Given the description of an element on the screen output the (x, y) to click on. 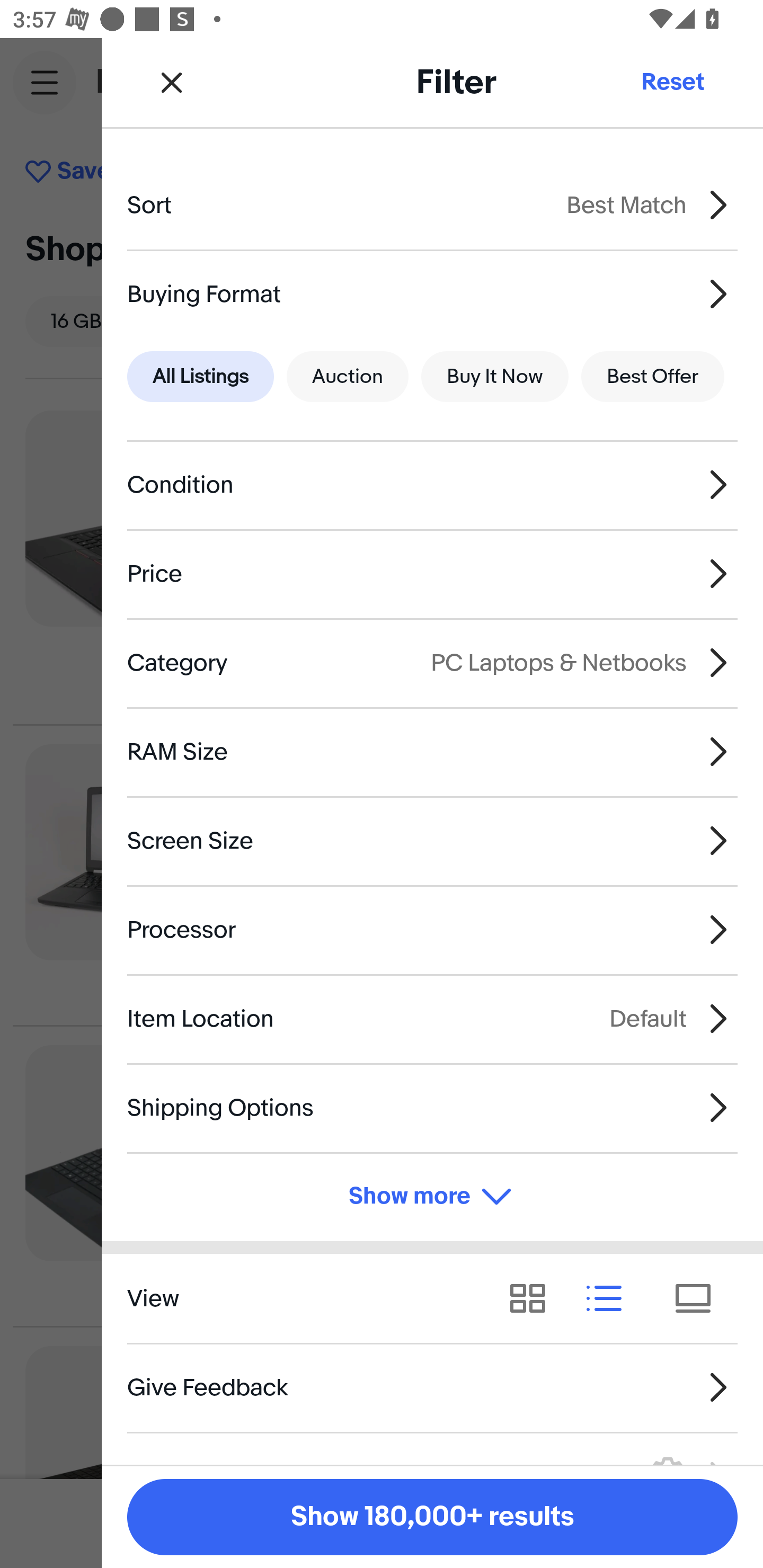
Close Laptop Search Cart button shopping cart (381, 82)
Close Filter (171, 81)
Cart button shopping cart (711, 81)
Buying Format (432, 293)
All Listings (200, 376)
Auction (347, 376)
Buy It Now (494, 376)
Best Offer (652, 376)
Condition (432, 484)
Price (432, 573)
Category PC Laptops & Netbooks (432, 662)
RAM Size (432, 751)
Screen Size (432, 840)
Processor (432, 929)
Item Location Default (432, 1018)
Shipping Options (432, 1107)
Show more (432, 1196)
View results as grid (533, 1297)
View results as list (610, 1297)
View results as tiles (699, 1297)
Show 180,000+ results (432, 1516)
